Given the description of an element on the screen output the (x, y) to click on. 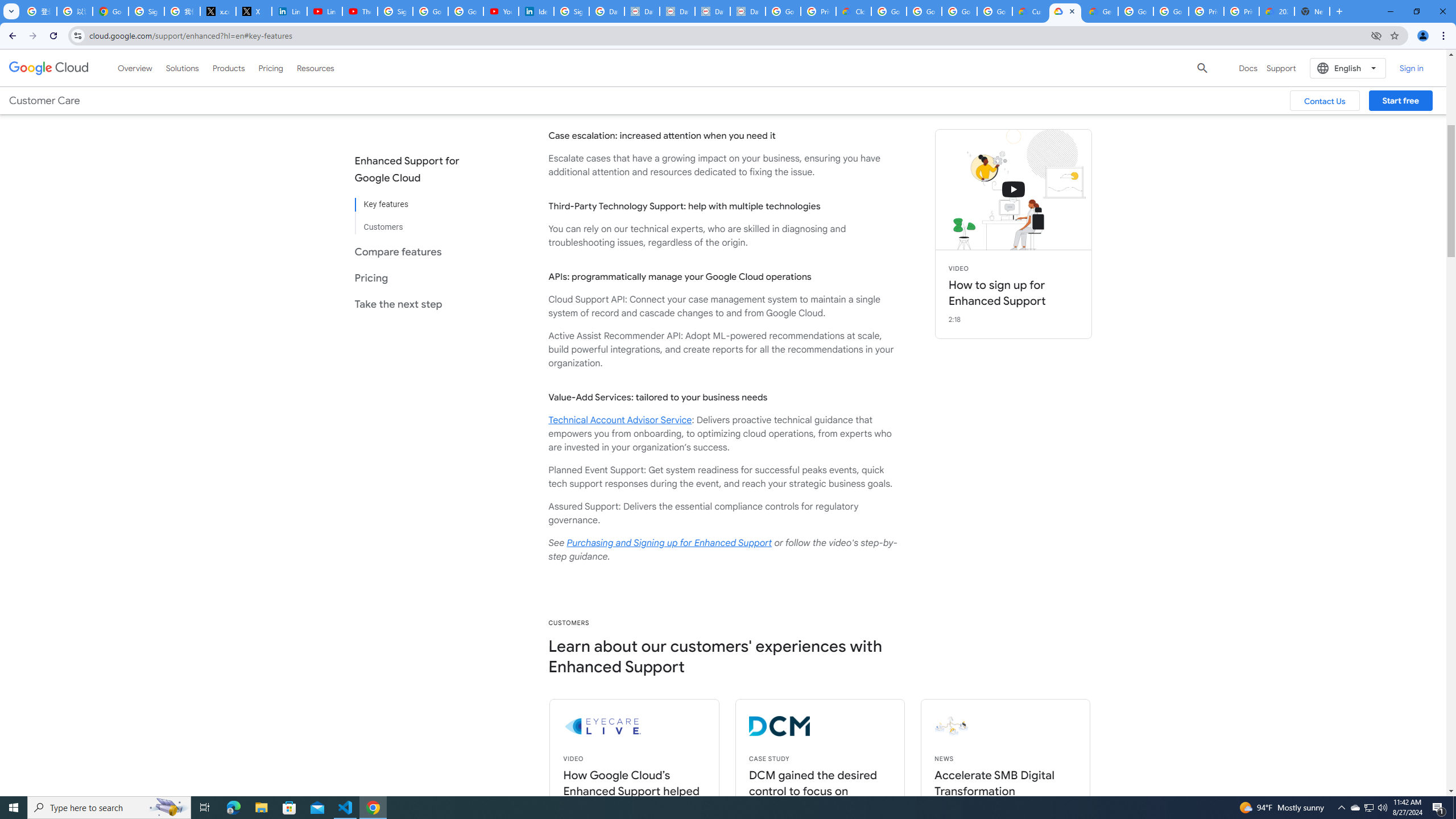
Contact Us (1324, 100)
LinkedIn - YouTube (324, 11)
employees connected through the cloud illustration (1035, 725)
Data Privacy Framework (641, 11)
Resources (314, 67)
Customers (416, 222)
Docs (1248, 67)
Take the next step (416, 303)
